Given the description of an element on the screen output the (x, y) to click on. 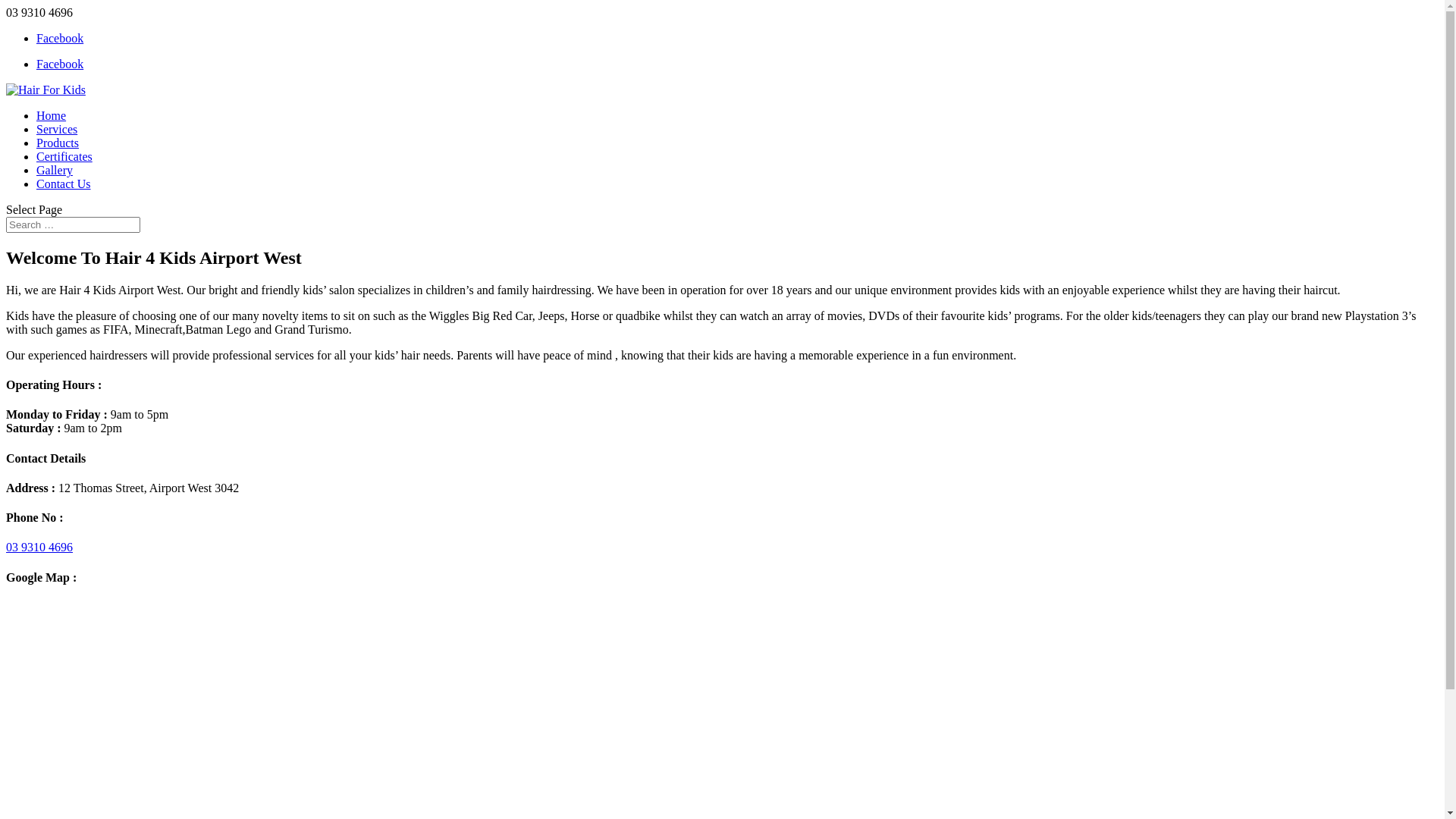
03 9310 4696 Element type: text (39, 546)
Search for: Element type: hover (73, 224)
Home Element type: text (50, 115)
Facebook Element type: text (59, 37)
Services Element type: text (56, 128)
Facebook Element type: text (59, 63)
Products Element type: text (57, 142)
Certificates Element type: text (64, 156)
Gallery Element type: text (54, 169)
Contact Us Element type: text (63, 183)
